Given the description of an element on the screen output the (x, y) to click on. 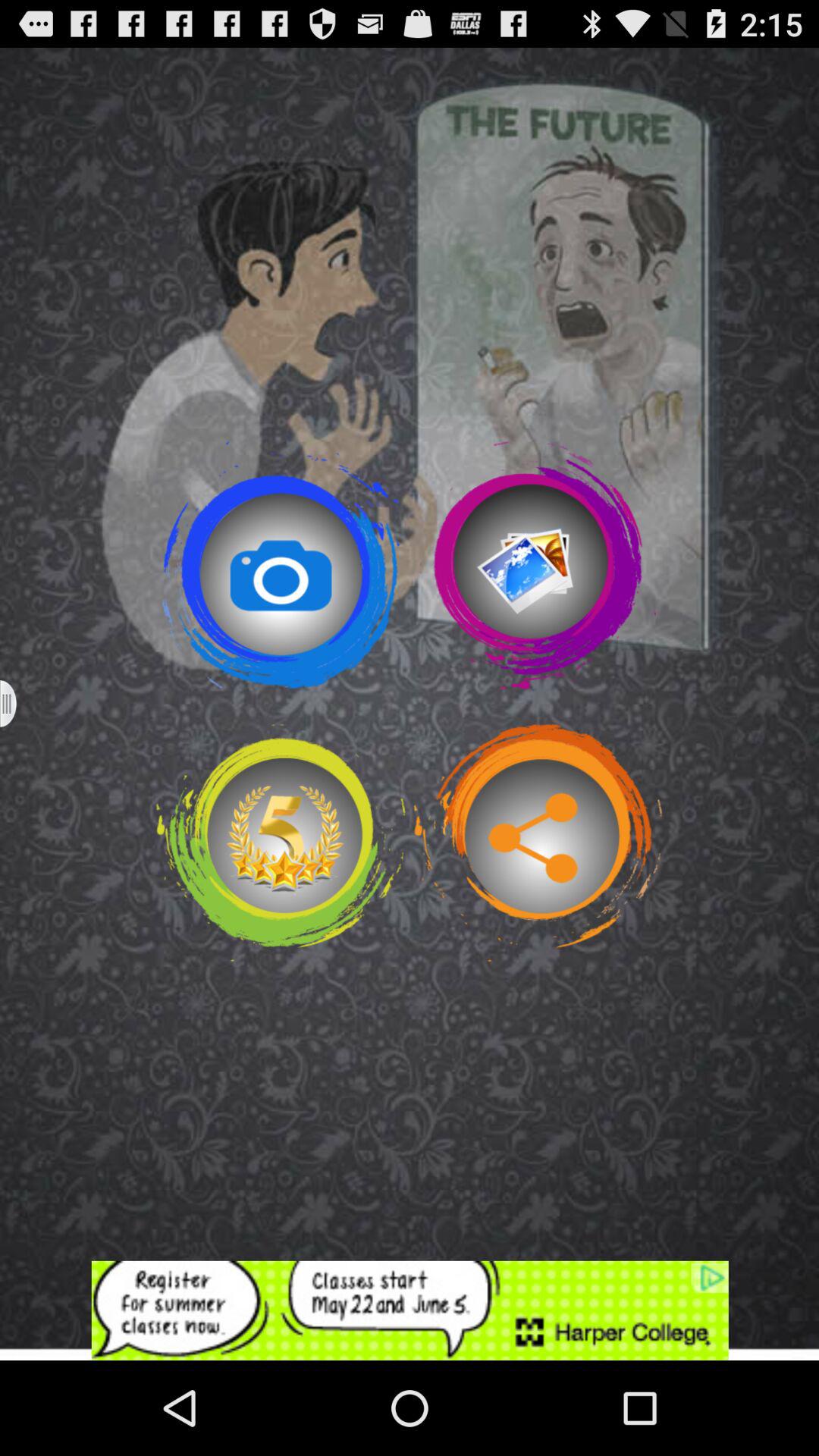
click to share option (537, 842)
